Given the description of an element on the screen output the (x, y) to click on. 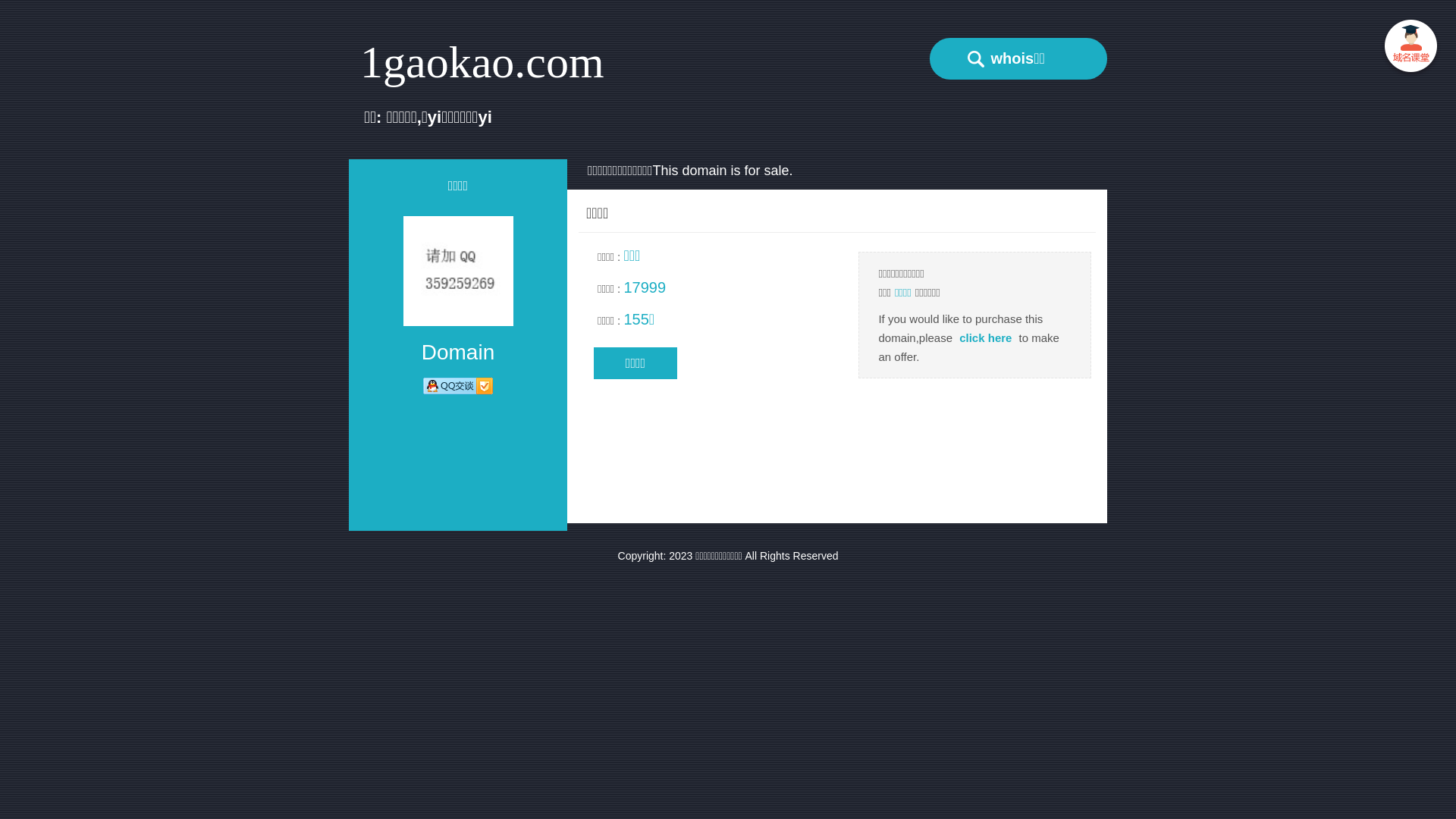
click here Element type: text (985, 337)
  Element type: text (1410, 48)
